Given the description of an element on the screen output the (x, y) to click on. 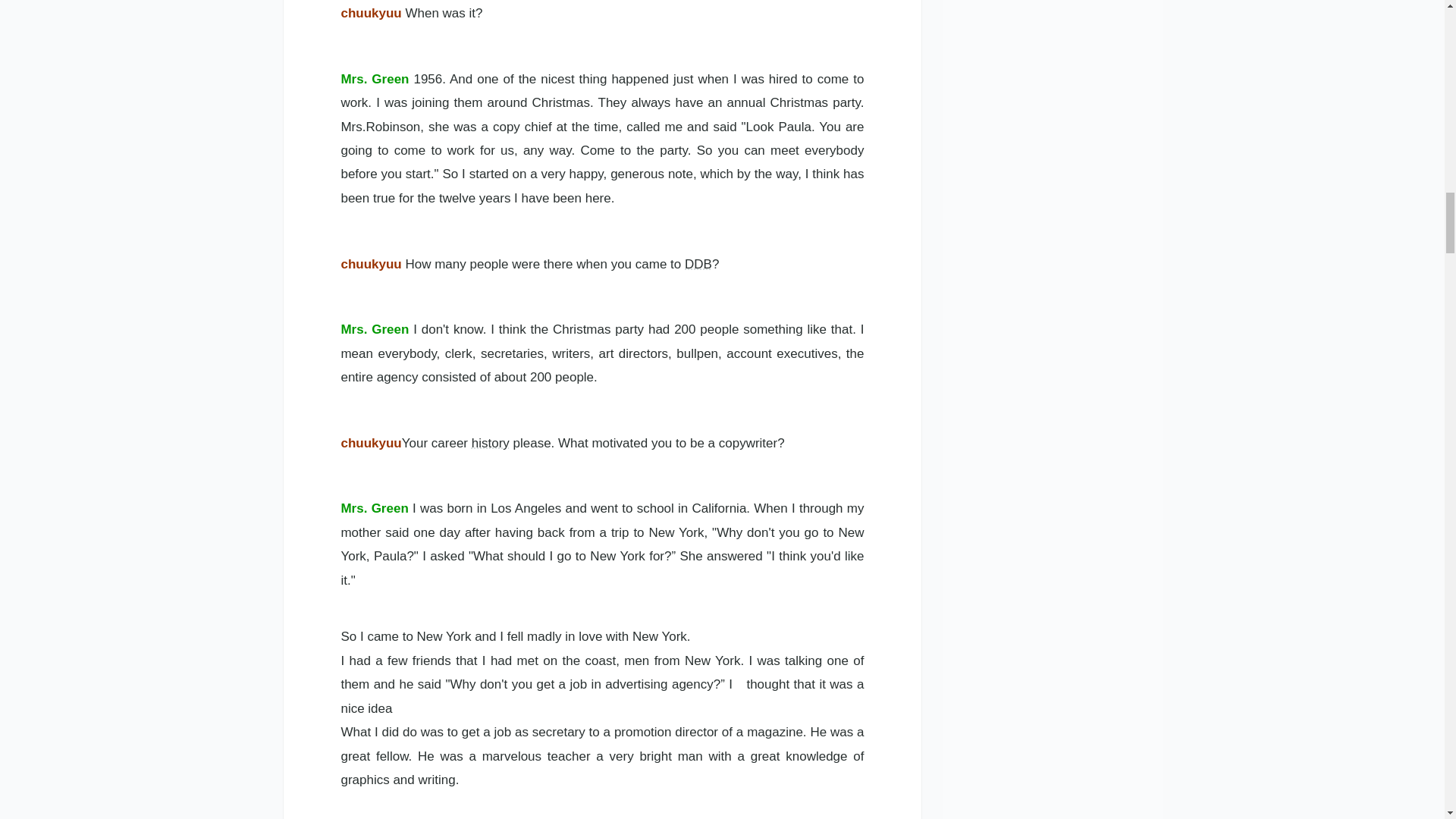
history (490, 442)
DDB (697, 264)
